Given the description of an element on the screen output the (x, y) to click on. 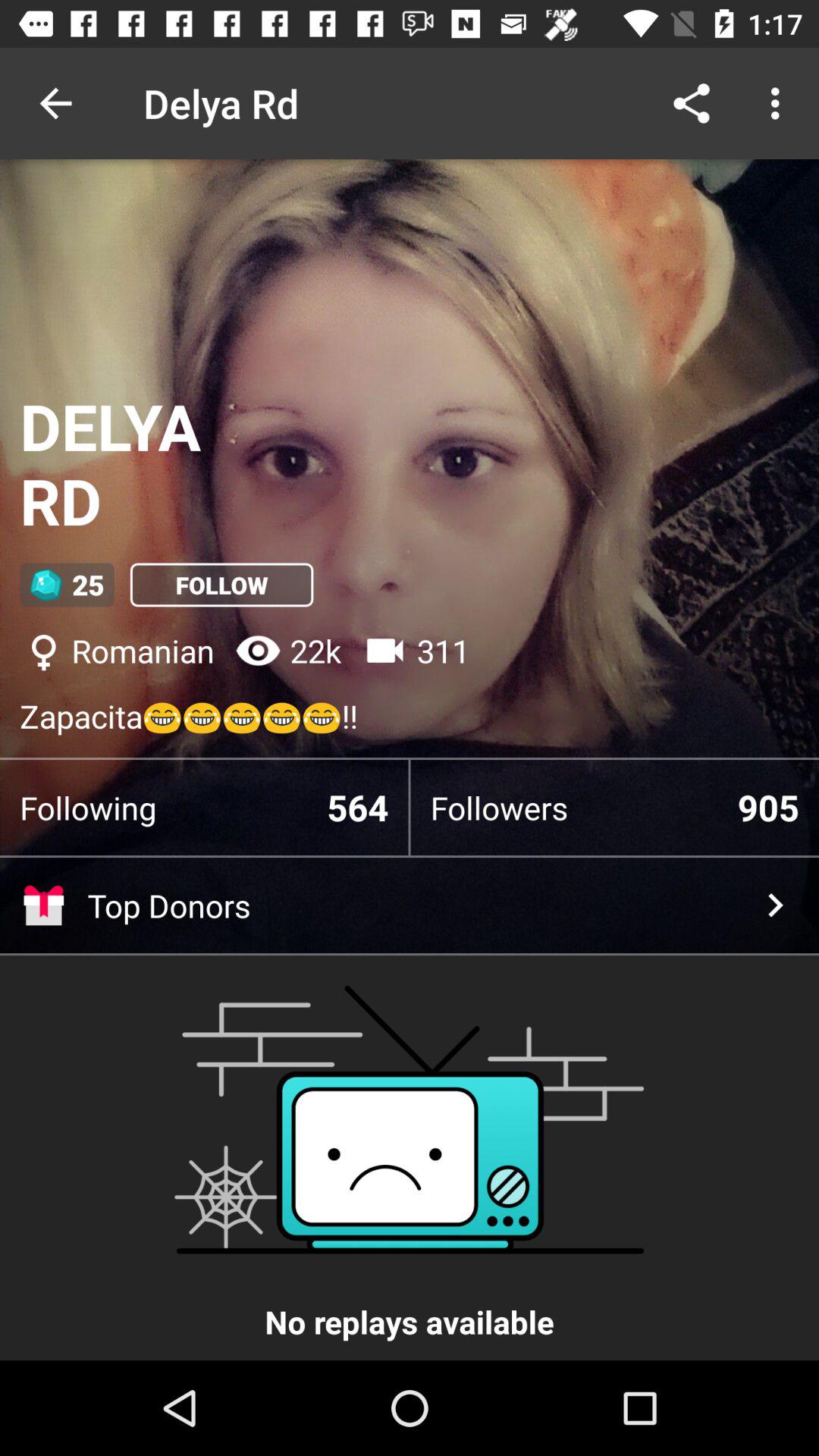
select the item below delya
rd item (66, 584)
